Given the description of an element on the screen output the (x, y) to click on. 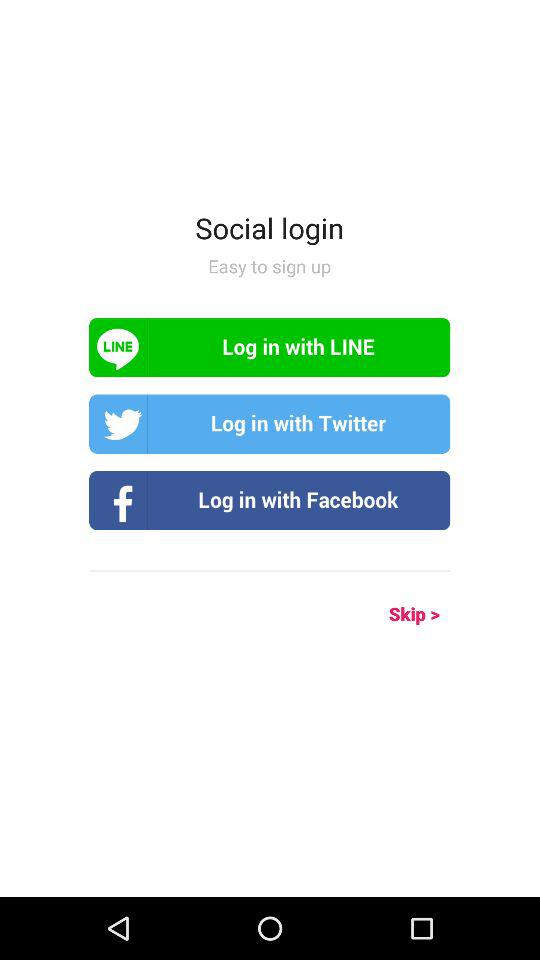
log in to facebook (269, 500)
